Given the description of an element on the screen output the (x, y) to click on. 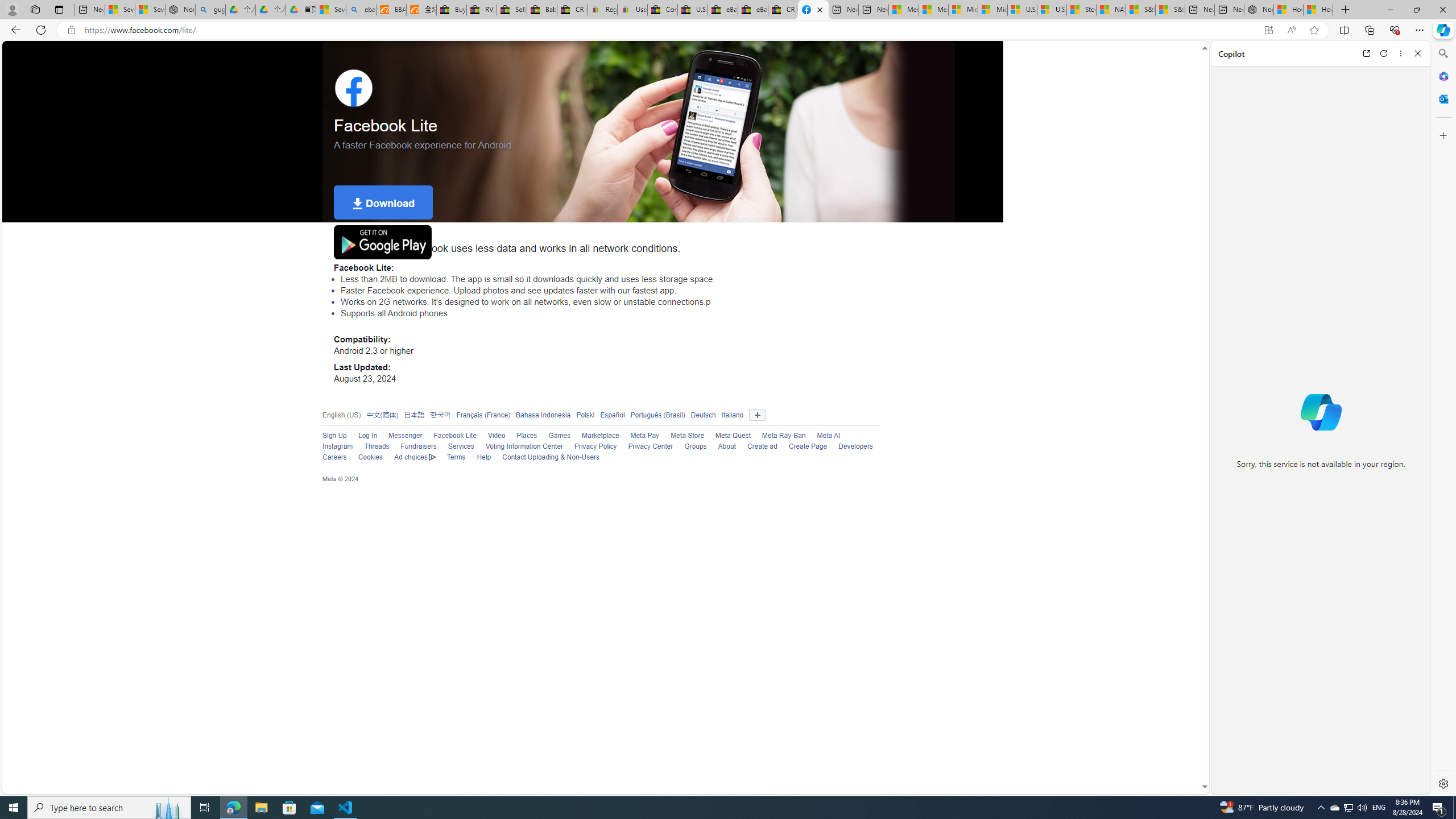
Search (1442, 53)
Bahasa Indonesia (539, 415)
ebay - Search (360, 9)
Personal Profile (12, 9)
Collections (1369, 29)
Create ad (756, 446)
Meta Store (687, 435)
Developers (850, 446)
Close (1417, 53)
Ad choices (414, 457)
